Given the description of an element on the screen output the (x, y) to click on. 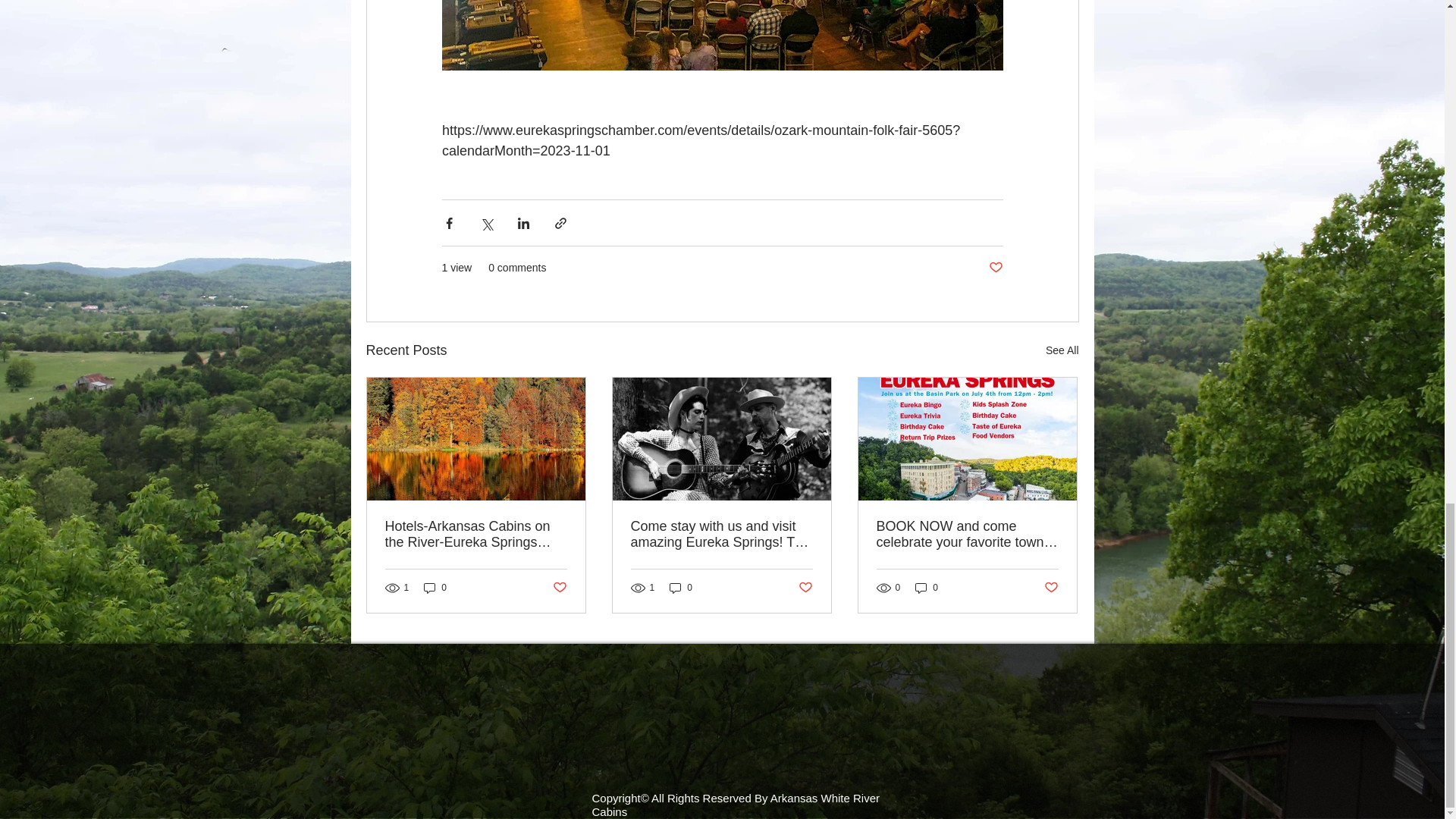
See All (1061, 350)
Post not marked as liked (995, 268)
Post not marked as liked (804, 587)
0 (681, 587)
0 (435, 587)
Post not marked as liked (558, 587)
